Given the description of an element on the screen output the (x, y) to click on. 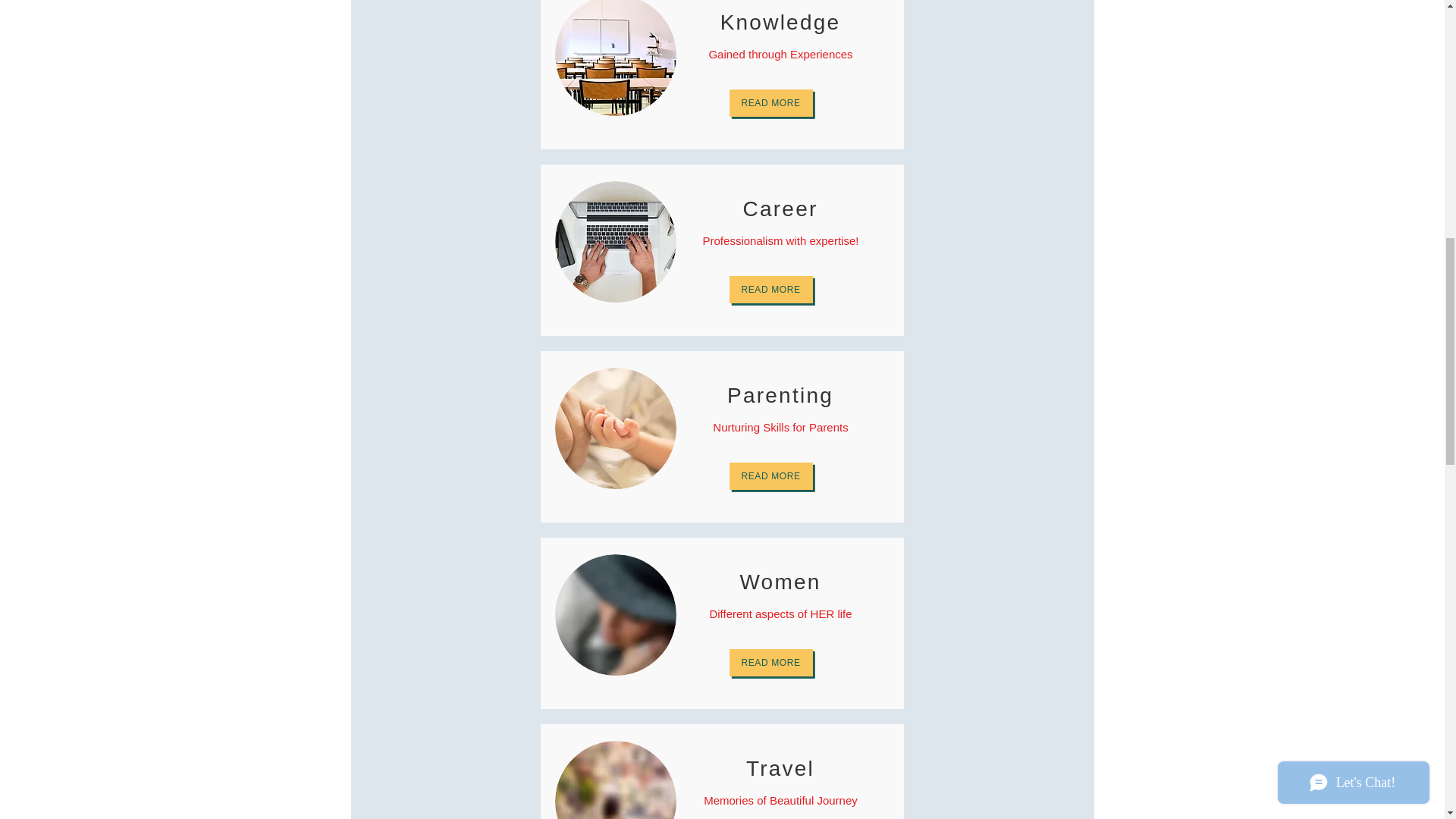
READ MORE (770, 289)
READ MORE (770, 103)
READ MORE (770, 475)
READ MORE (770, 662)
